Given the description of an element on the screen output the (x, y) to click on. 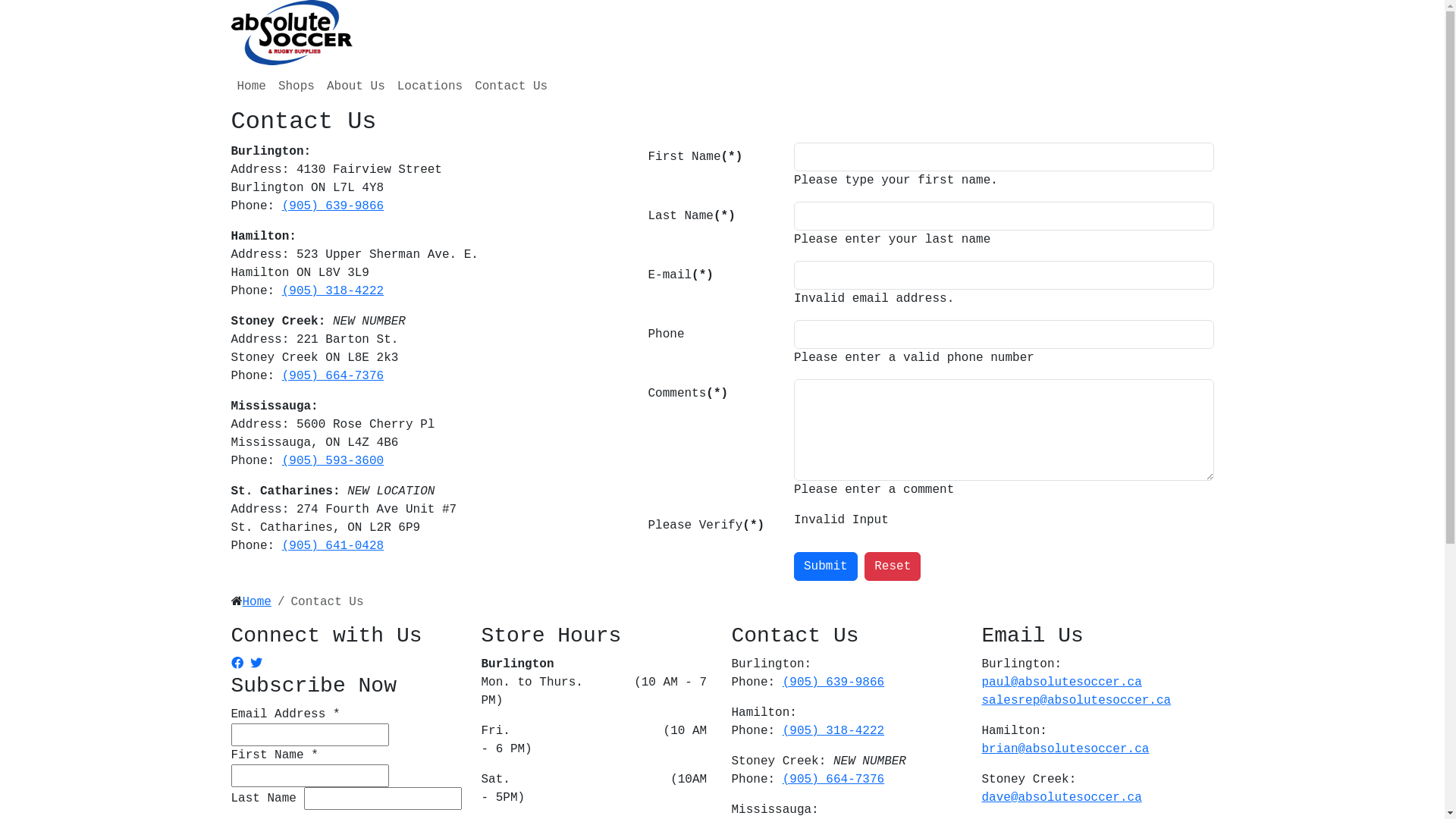
(905) 318-4222 Element type: text (833, 730)
Shops Element type: text (296, 86)
(905) 593-3600 Element type: text (332, 460)
Locations Element type: text (429, 86)
Home Element type: text (256, 601)
Submit Element type: text (825, 566)
(905) 639-9866 Element type: text (332, 206)
Absolute Soccer Element type: hover (290, 32)
(905) 664-7376 Element type: text (332, 375)
brian@absolutesoccer.ca Element type: text (1064, 749)
(905) 318-4222 Element type: text (332, 291)
dave@absolutesoccer.ca Element type: text (1061, 797)
(905) 639-9866 Element type: text (833, 682)
About Us Element type: text (355, 86)
paul@absolutesoccer.ca Element type: text (1061, 682)
Contact Us Element type: text (510, 86)
salesrep@absolutesoccer.ca Element type: text (1075, 700)
(905) 664-7376 Element type: text (833, 779)
Home Element type: text (250, 86)
Reset Element type: text (892, 566)
(905) 641-0428 Element type: text (332, 545)
